Given the description of an element on the screen output the (x, y) to click on. 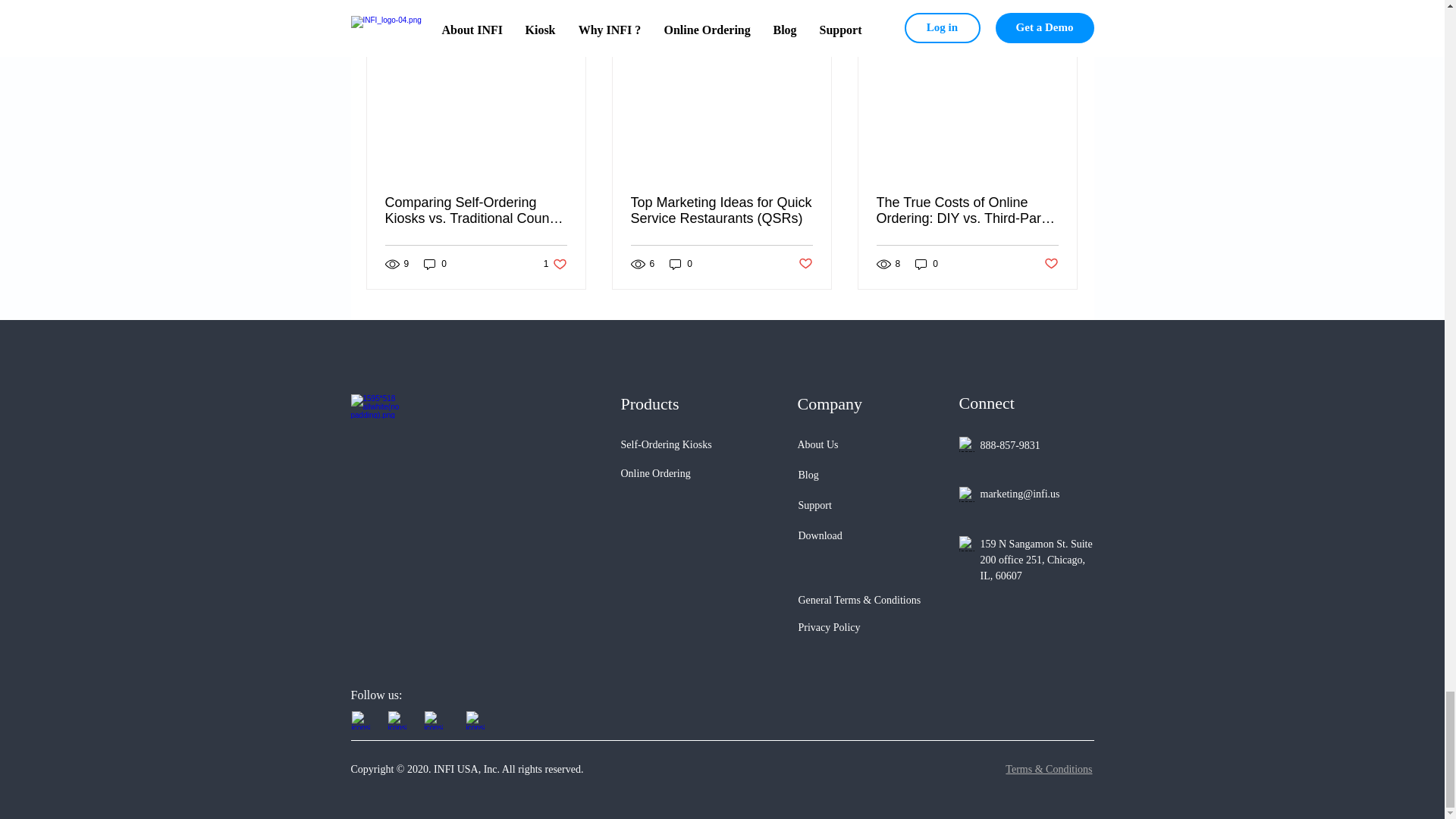
See All (1061, 26)
0 (555, 264)
0 (681, 264)
